Given the description of an element on the screen output the (x, y) to click on. 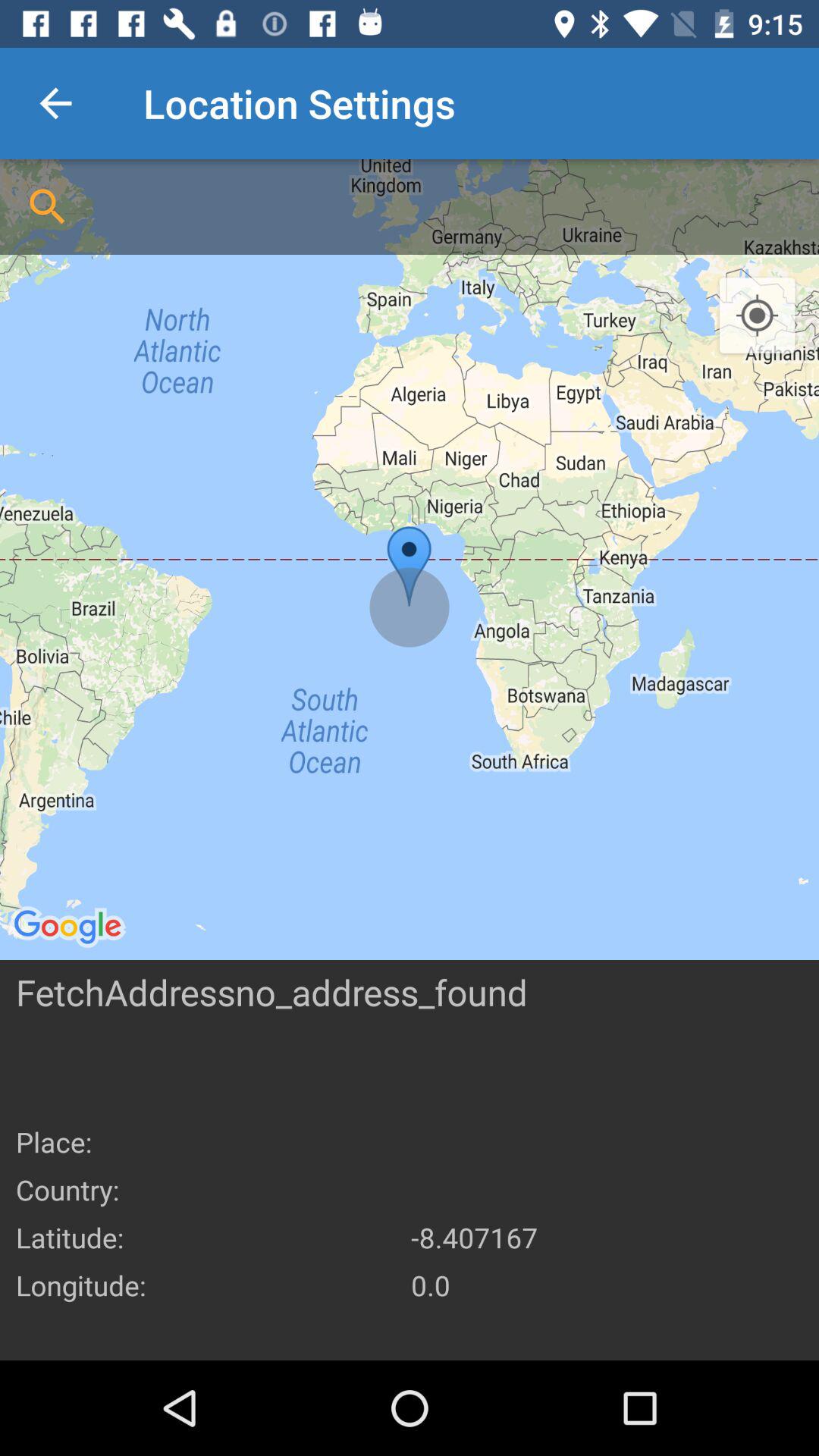
turn off the icon at the top right corner (757, 316)
